Given the description of an element on the screen output the (x, y) to click on. 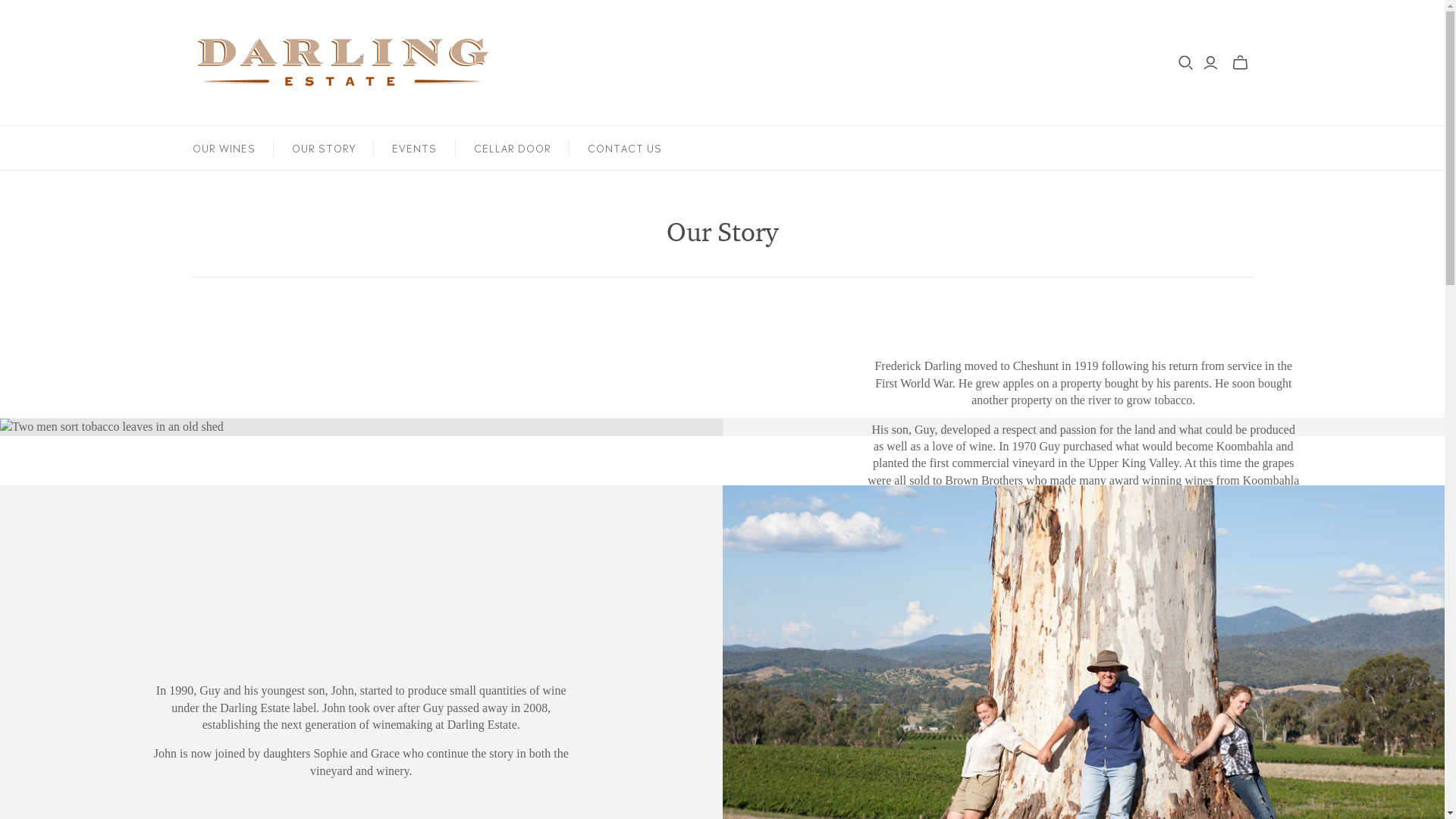
CELLAR DOOR Element type: text (511, 147)
OUR WINES Element type: text (223, 147)
EVENTS Element type: text (414, 147)
CONTACT US Element type: text (624, 147)
OUR STORY Element type: text (323, 147)
